Given the description of an element on the screen output the (x, y) to click on. 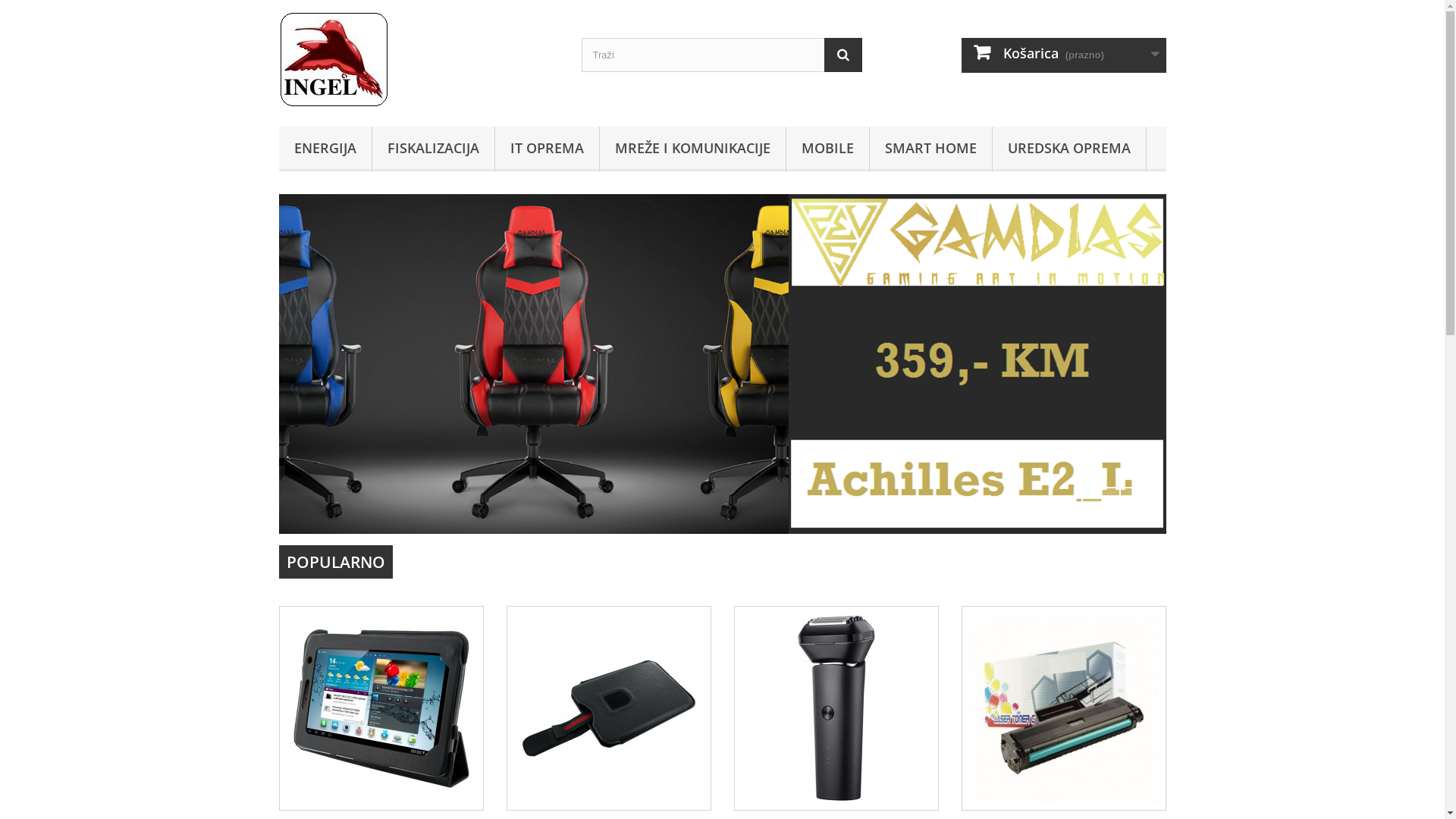
Toner HP W1106A ECO (no chip) Element type: hover (1063, 708)
INGEL d.o.o. Element type: hover (419, 59)
IT OPREMA Element type: text (546, 148)
POPULARNO Element type: text (335, 561)
Next Element type: text (1138, 506)
SMART HOME Element type: text (930, 148)
Prev Element type: text (1100, 506)
4World futrola sa postoljem za Galaxy Tab 2, 7', crna Element type: hover (381, 708)
FISKALIZACIJA Element type: text (432, 148)
UREDSKA OPREMA Element type: text (1068, 148)
MOBILE Element type: text (826, 148)
ENERGIJA Element type: text (325, 148)
